Given the description of an element on the screen output the (x, y) to click on. 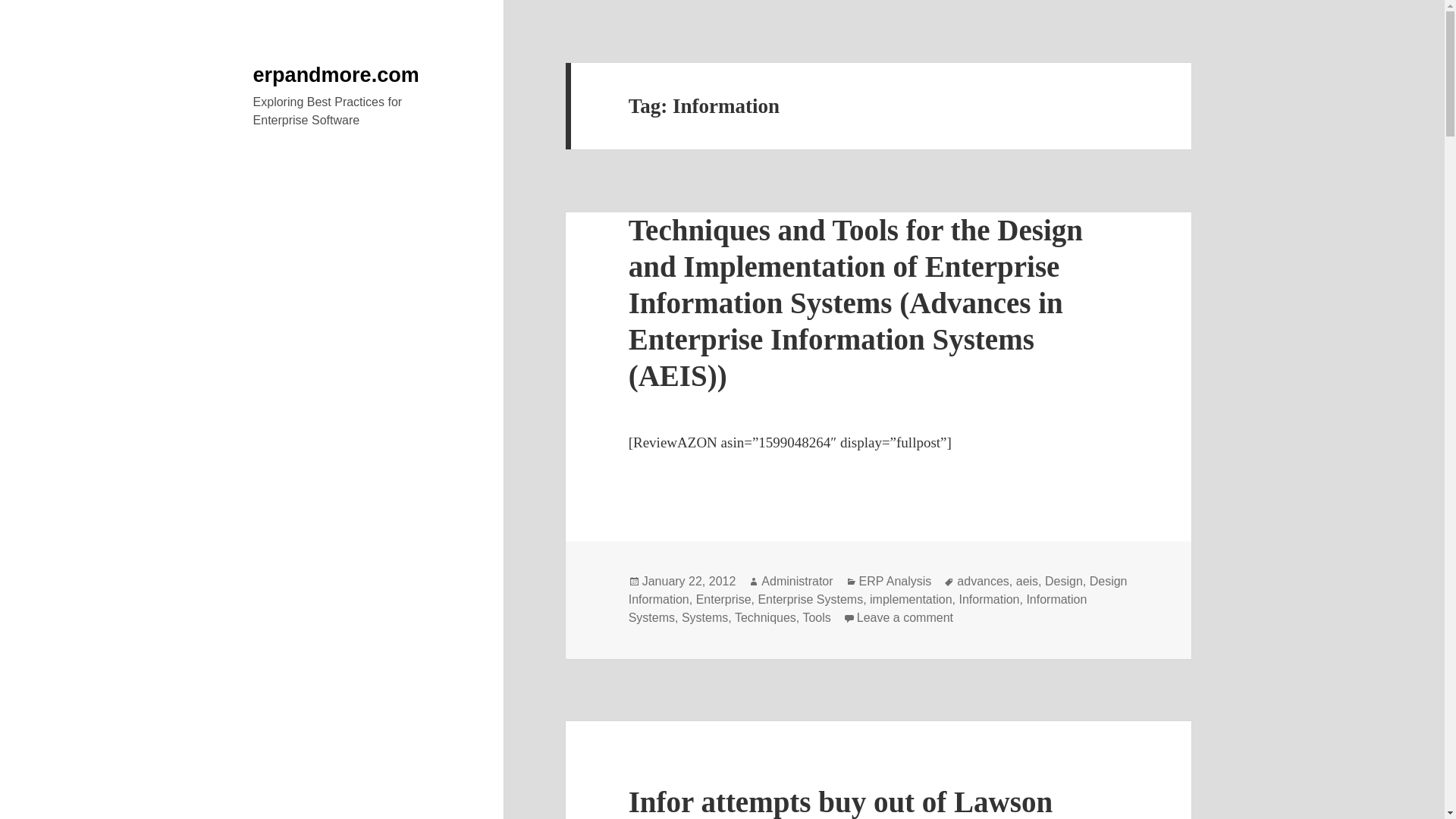
advances (982, 581)
Administrator (796, 581)
implementation (910, 599)
Systems (704, 617)
Design (1064, 581)
Tools (815, 617)
Information Systems (857, 608)
January 22, 2012 (689, 581)
Techniques (765, 617)
Information (988, 599)
